Given the description of an element on the screen output the (x, y) to click on. 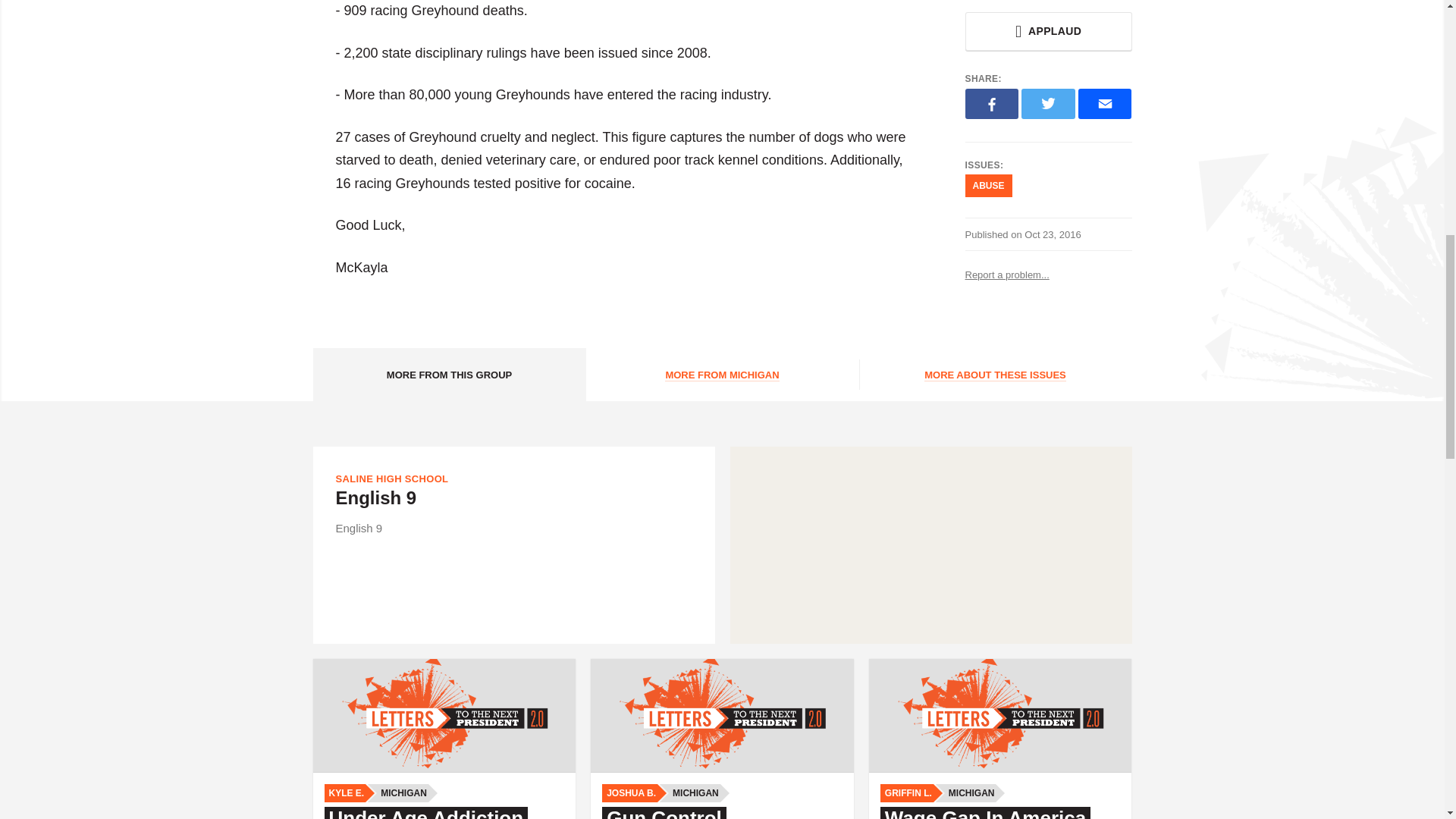
SALINE HIGH SCHOOL (391, 478)
MORE ABOUT THESE ISSUES (995, 374)
MORE FROM MICHIGAN (722, 374)
MORE FROM THIS GROUP (449, 374)
